Given the description of an element on the screen output the (x, y) to click on. 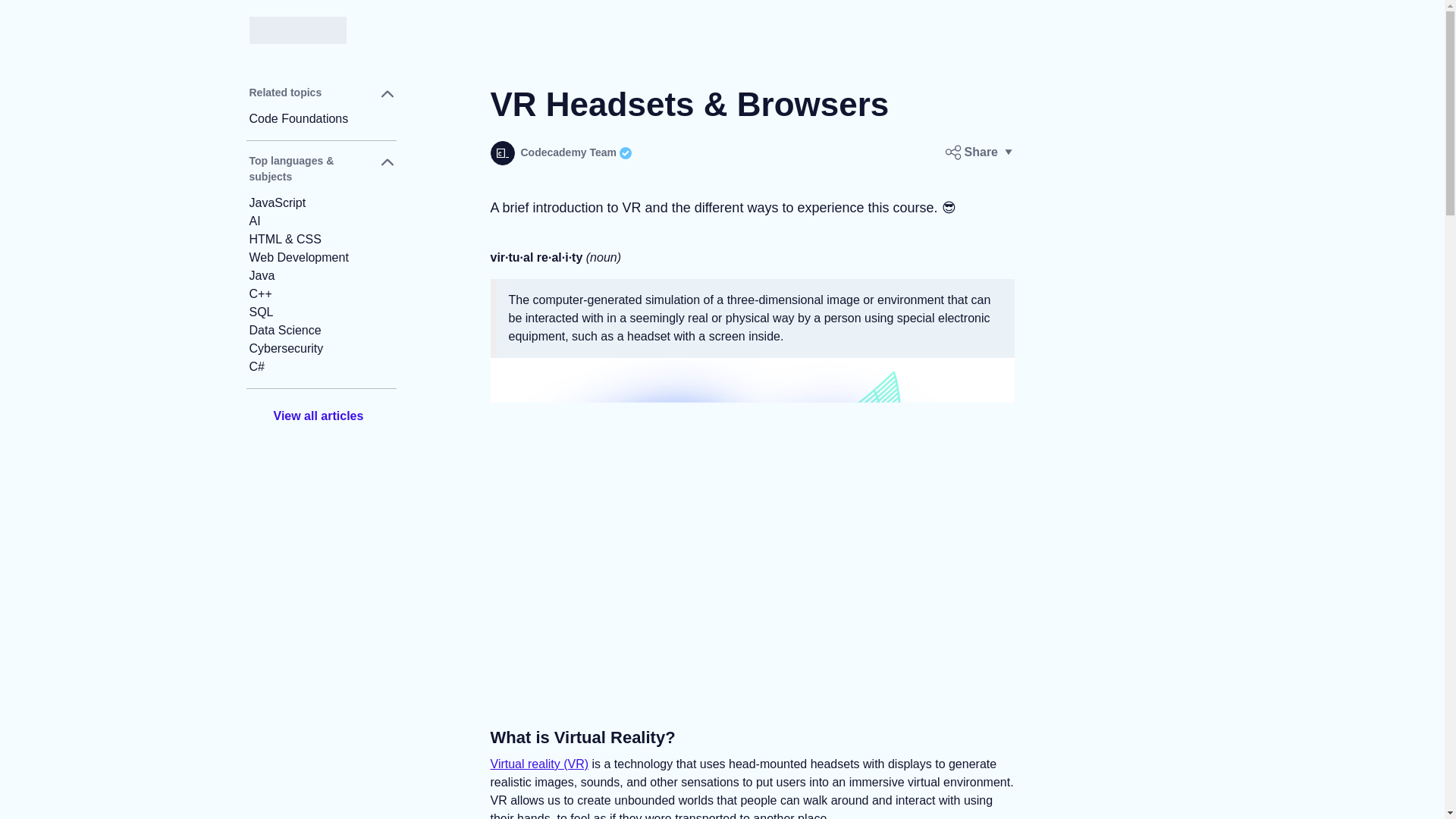
Related topics (321, 97)
AI (320, 221)
Cybersecurity (320, 348)
Data Science (320, 330)
JavaScript (320, 203)
Share (978, 152)
Java (320, 275)
Code Foundations (320, 118)
Web Development (320, 257)
Codecademy Team (560, 152)
